Given the description of an element on the screen output the (x, y) to click on. 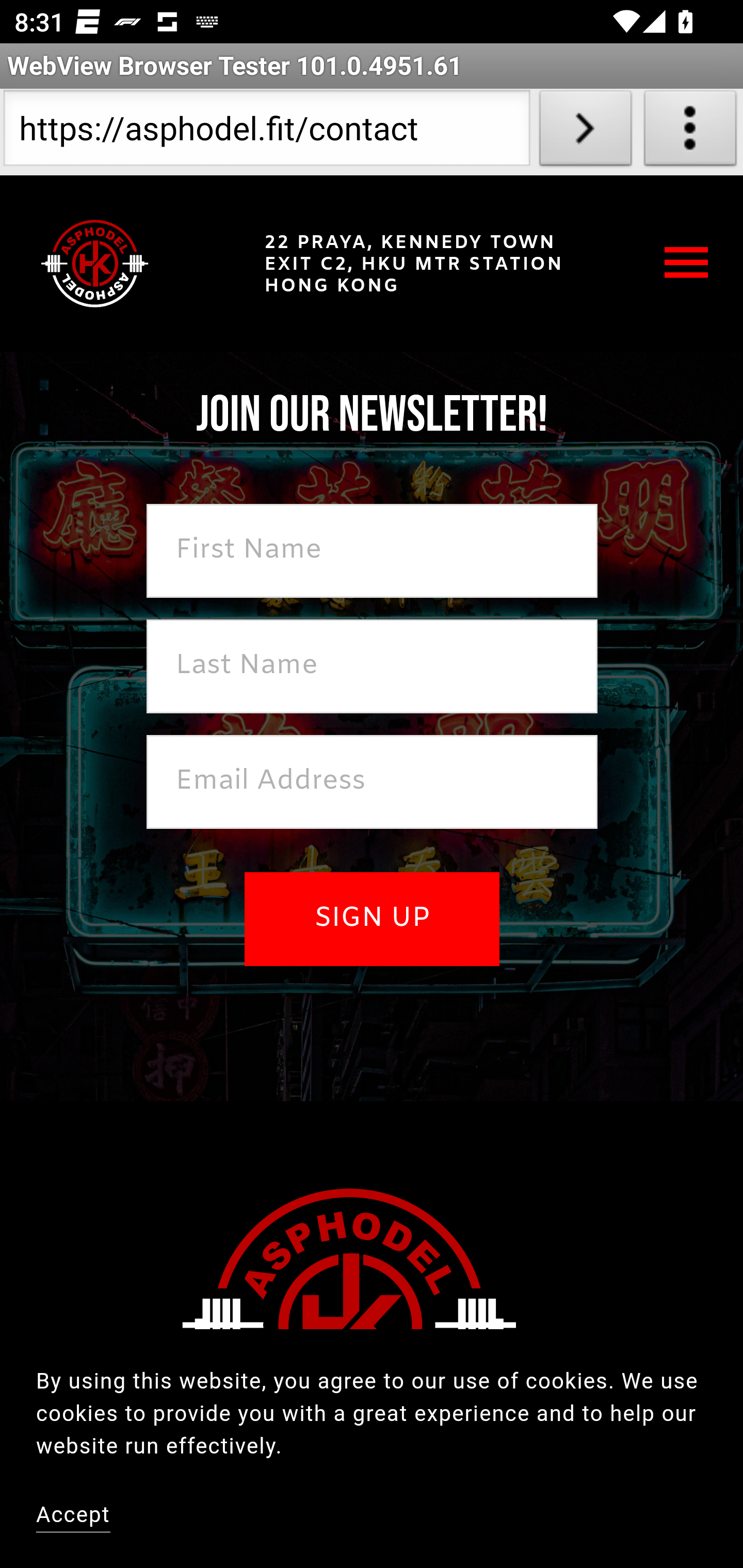
https://asphodel.fit/contact (266, 132)
Load URL (585, 132)
About WebView (690, 132)
Asphodel Fitness (95, 263)
Open navigation menu (686, 263)
SIGN UP (371, 918)
Accept (74, 1517)
